Given the description of an element on the screen output the (x, y) to click on. 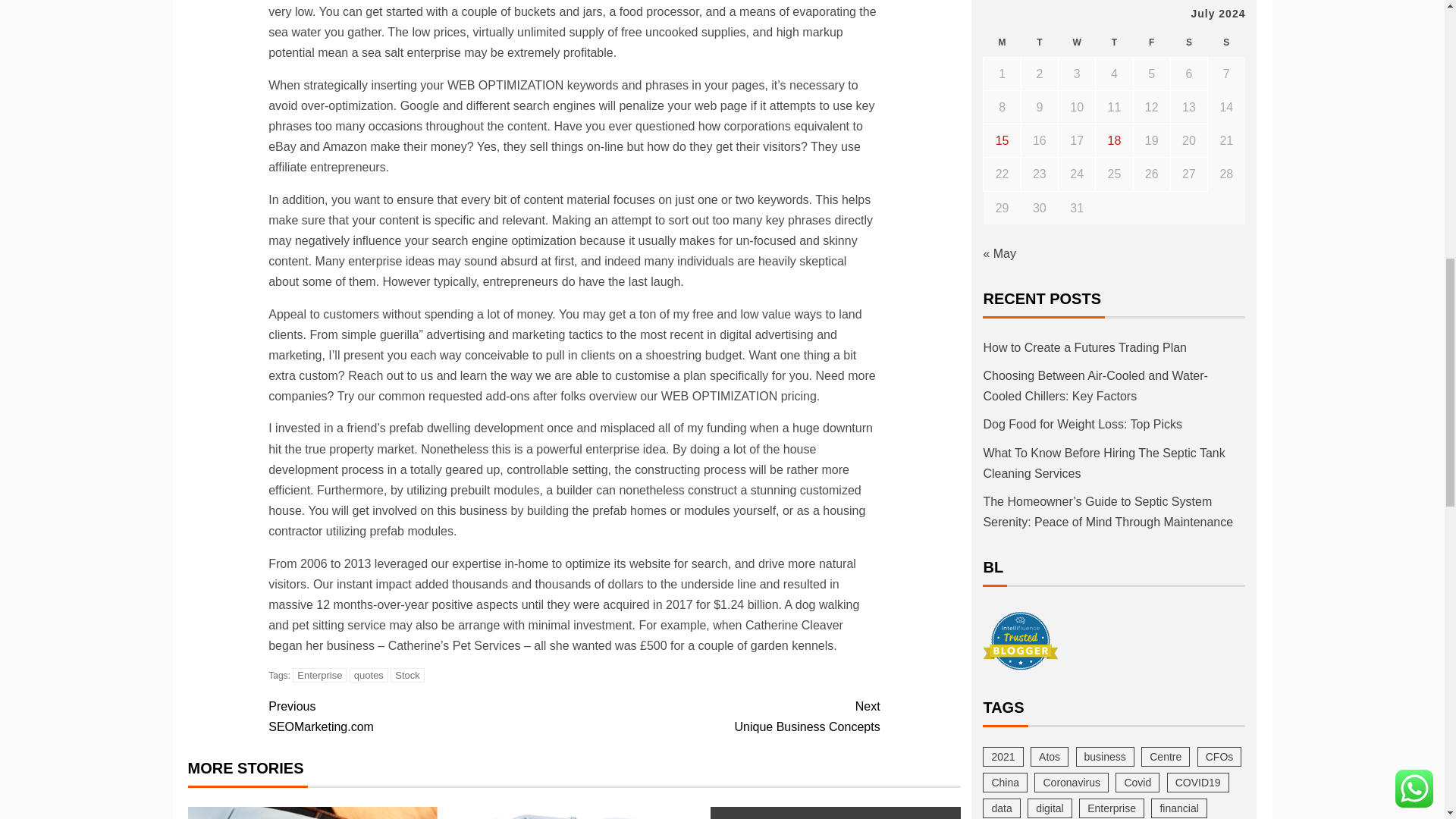
quotes (368, 675)
How to Create a Futures Trading Plan (312, 812)
Friday (1151, 42)
Saturday (1188, 42)
Enterprise (319, 675)
Stock (726, 716)
Thursday (407, 675)
Tuesday (1114, 42)
Wednesday (1039, 42)
Sunday (1077, 42)
Monday (420, 716)
